Given the description of an element on the screen output the (x, y) to click on. 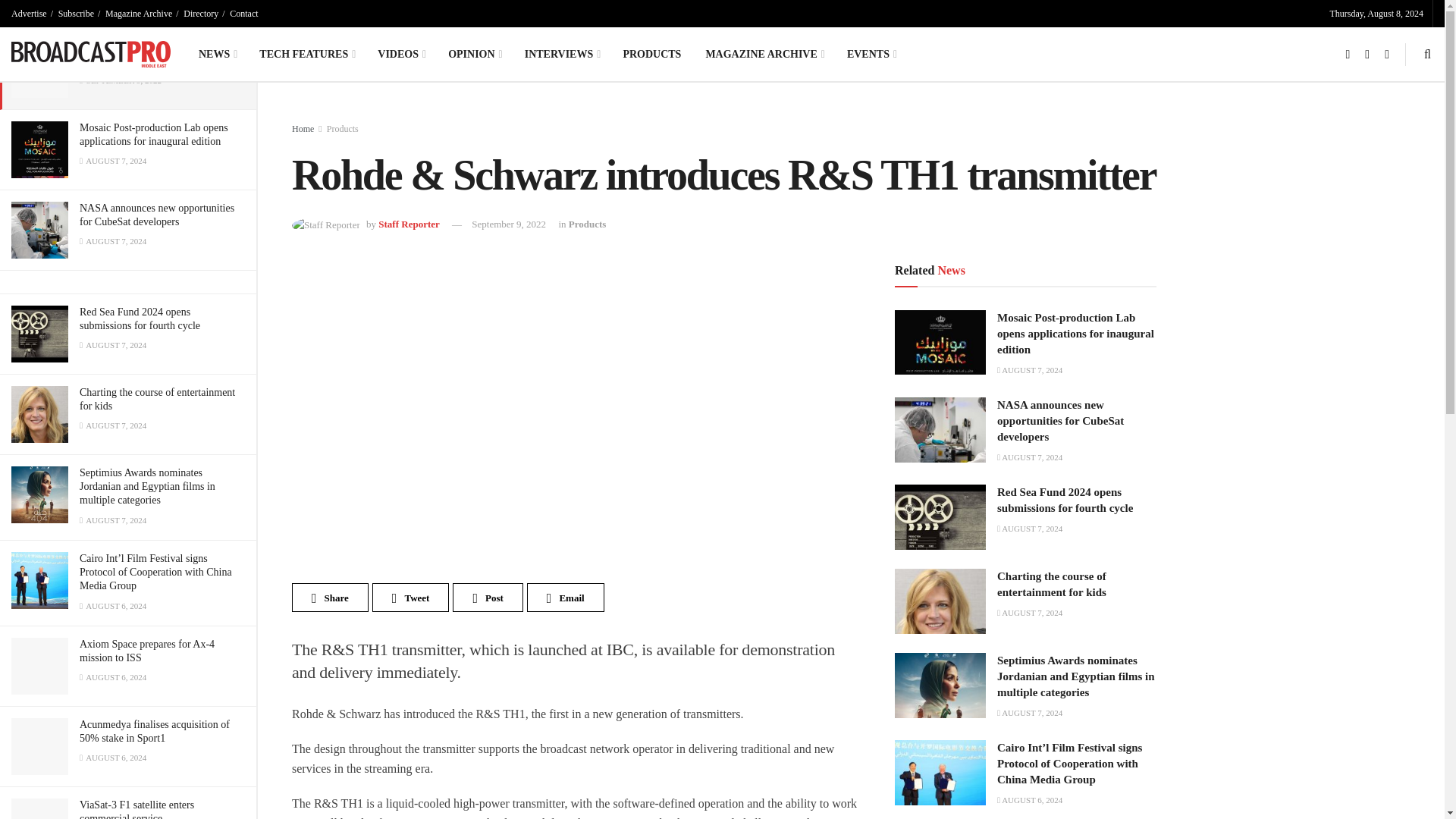
Directory (200, 13)
Subscribe (76, 13)
Magazine Archive (137, 13)
Advertise (28, 13)
NASA announces new opportunities for CubeSat developers (157, 214)
ViaSat-3 F1 satellite enters commercial service (136, 809)
Charting the course of entertainment for kids (157, 398)
Axiom Space prepares for Ax-4 mission to ISS (147, 650)
Red Sea Fund 2024 opens submissions for fourth cycle (140, 318)
